Given the description of an element on the screen output the (x, y) to click on. 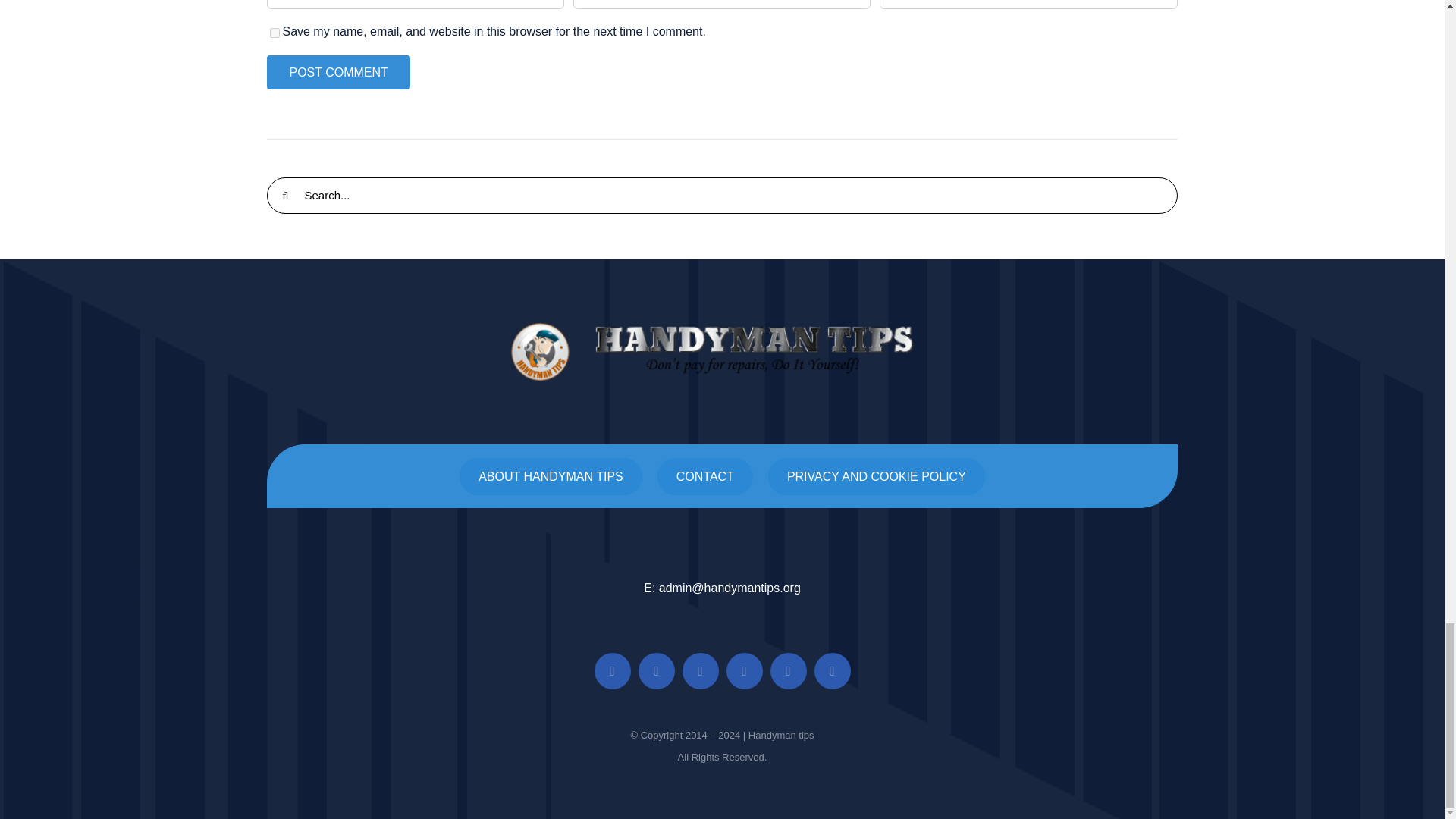
yes (274, 32)
ABOUT HANDYMAN TIPS (551, 476)
Handyman tips header new (721, 352)
Post Comment (337, 72)
PRIVACY AND COOKIE POLICY (876, 476)
CONTACT (705, 476)
Post Comment (337, 72)
